Given the description of an element on the screen output the (x, y) to click on. 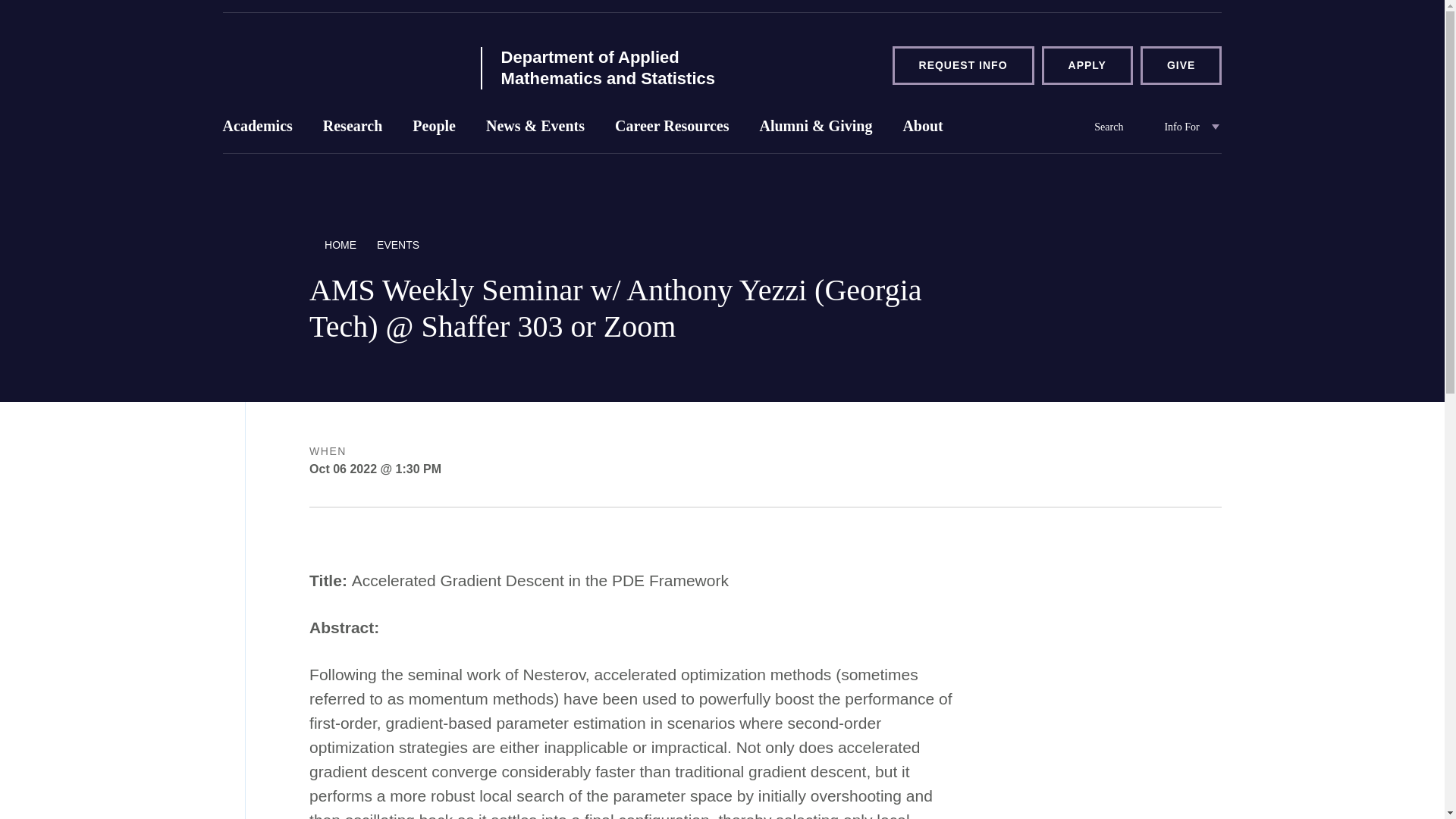
Academics (257, 130)
Department of Applied Mathematics and Statistics (341, 63)
Research (352, 130)
People (433, 130)
REQUEST INFO (962, 65)
APPLY (1087, 65)
Department of Applied Mathematics and Statistics (627, 67)
GIVE (1180, 65)
